Given the description of an element on the screen output the (x, y) to click on. 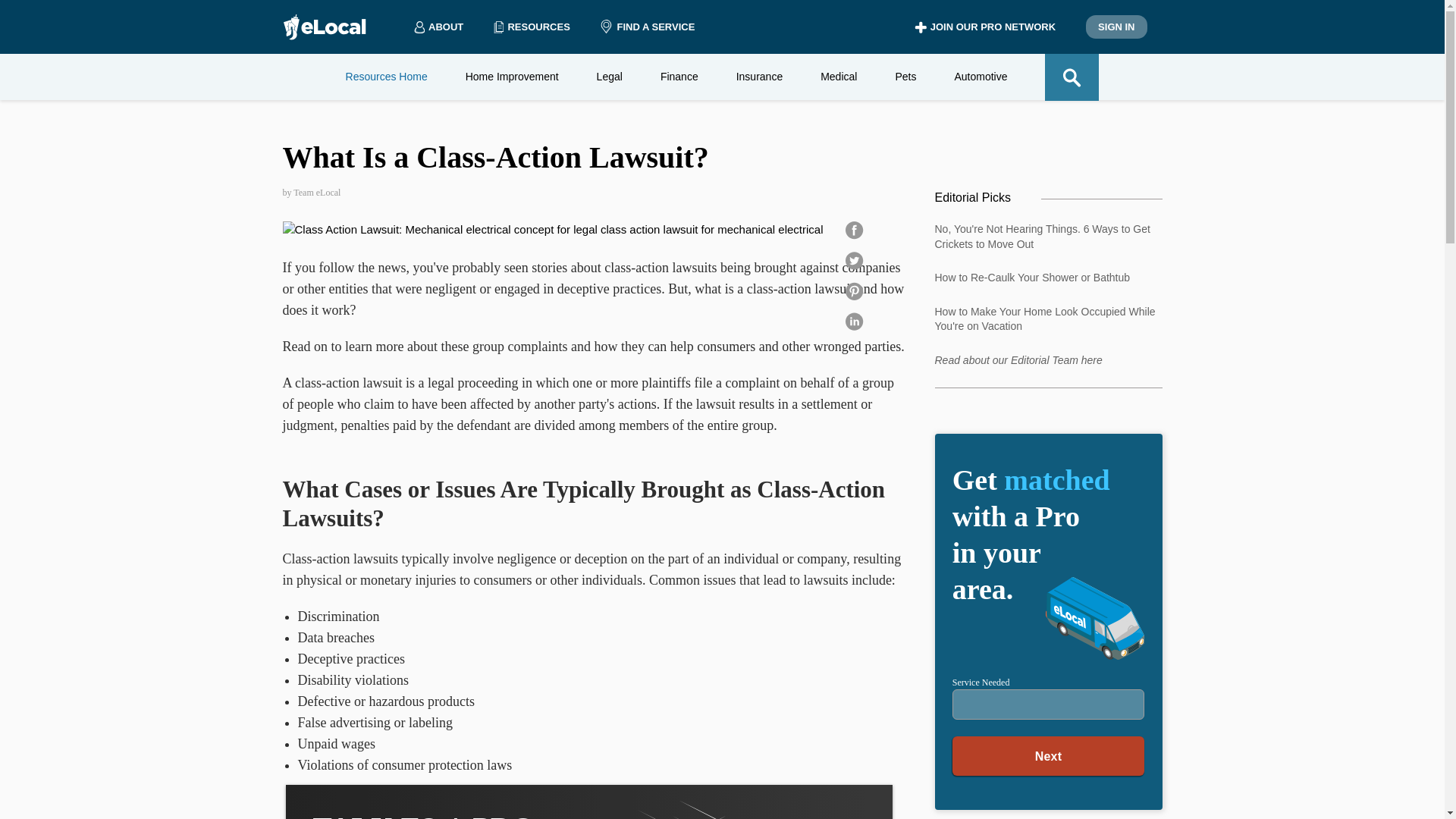
SIGN IN (1116, 27)
FIND A SERVICE (646, 27)
